Given the description of an element on the screen output the (x, y) to click on. 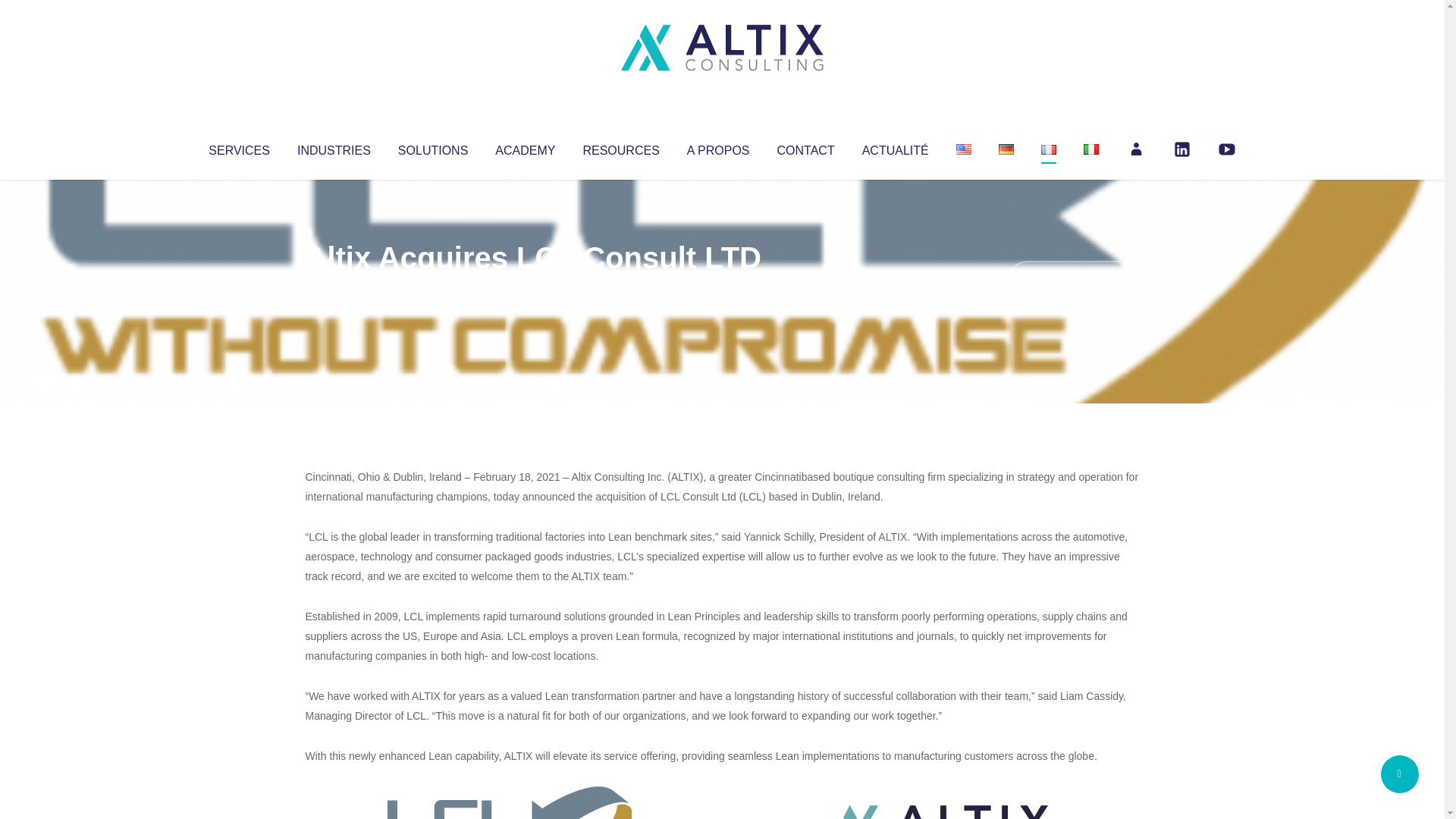
No Comments (1073, 278)
ACADEMY (524, 146)
A PROPOS (718, 146)
Uncategorized (530, 287)
Altix (333, 287)
RESOURCES (620, 146)
SOLUTIONS (432, 146)
SERVICES (238, 146)
Articles par Altix (333, 287)
INDUSTRIES (334, 146)
